Given the description of an element on the screen output the (x, y) to click on. 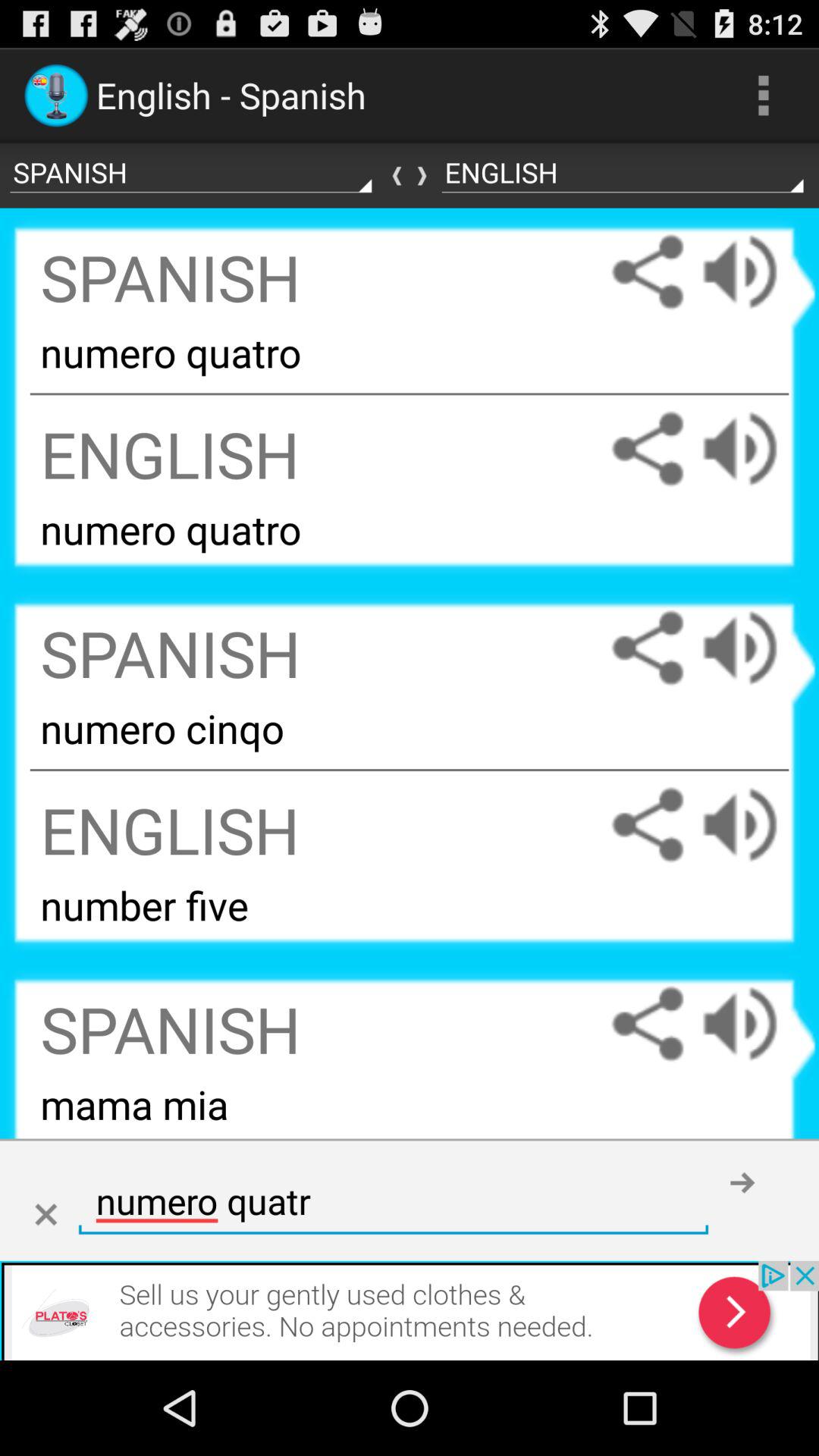
toggle autoplay option (754, 448)
